Given the description of an element on the screen output the (x, y) to click on. 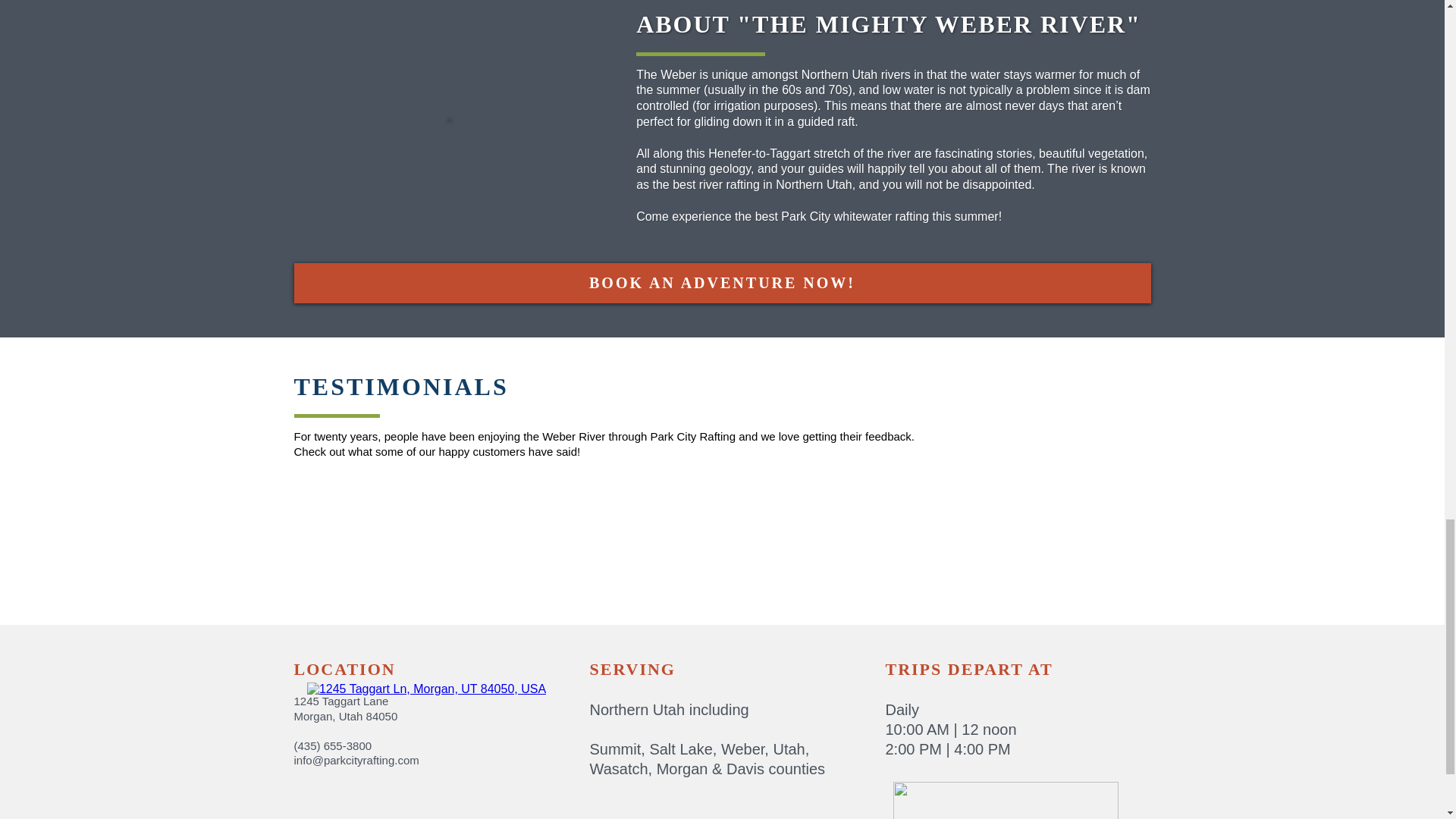
BOOK AN ADVENTURE NOW! (722, 282)
